Given the description of an element on the screen output the (x, y) to click on. 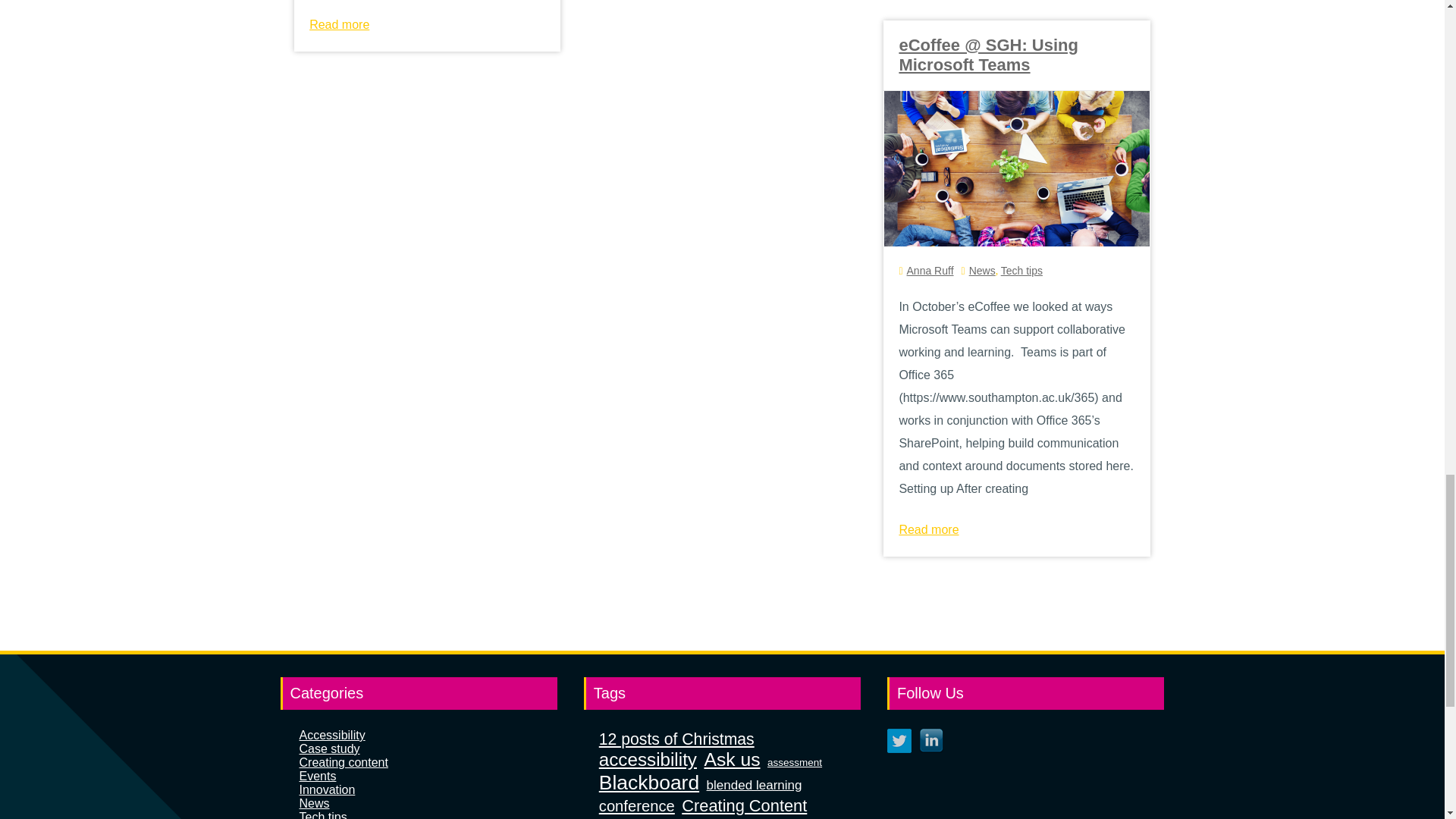
Follow Us on LinkedIn (930, 740)
Follow Us on Twitter (898, 740)
